Given the description of an element on the screen output the (x, y) to click on. 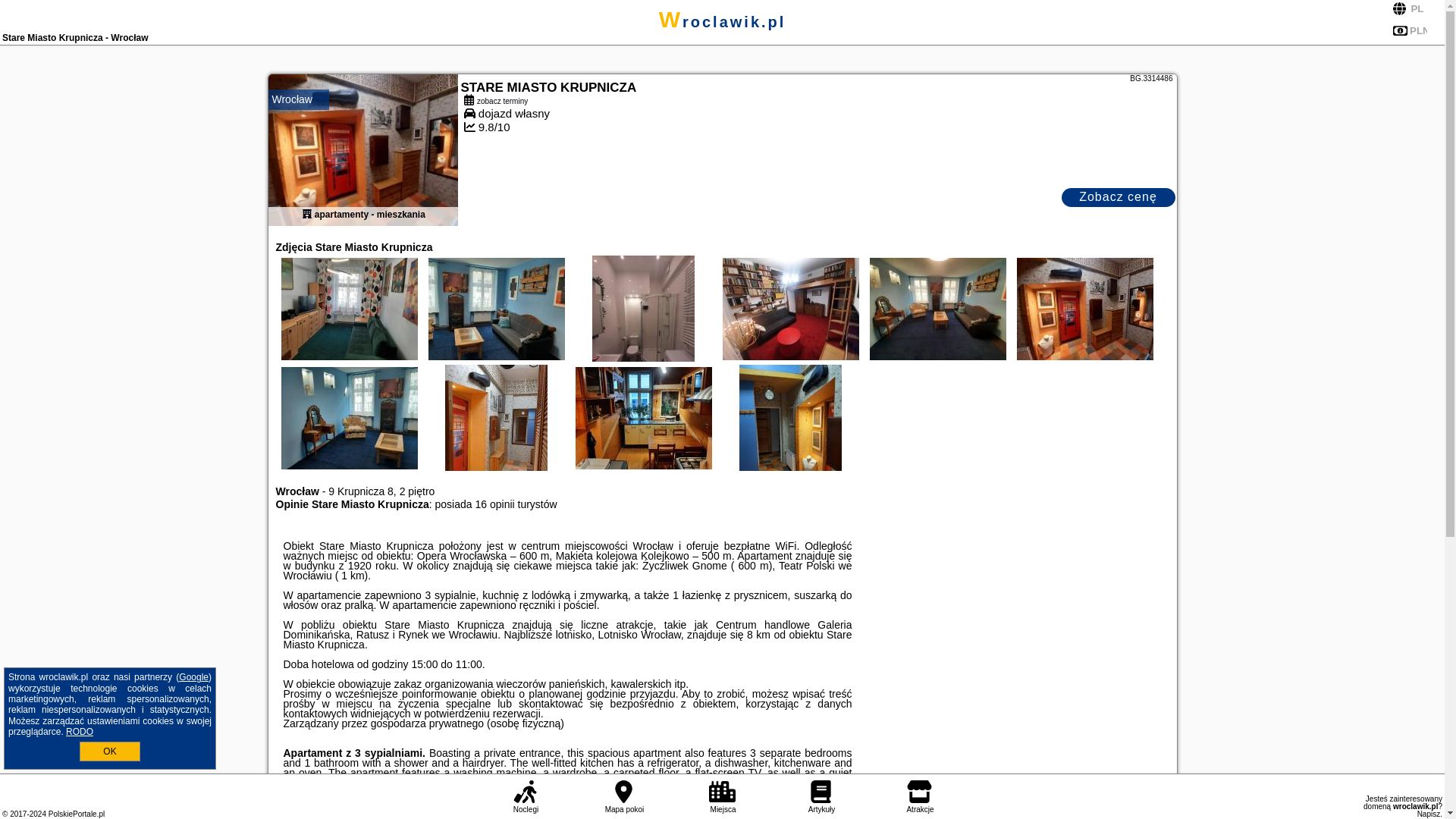
16 opinii (493, 503)
Urlop Wczasy Stare Miasto Krupnicza Polska (497, 308)
Urlop Wczasy Stare Miasto Krupnicza Polska (938, 308)
PolskiePortale.pl (76, 813)
Mapa pokoi (623, 797)
Urlop Wczasy Stare Miasto Krupnicza Polska (1085, 308)
Urlop Wczasy Stare Miasto Krupnicza Polska (644, 323)
Atrakcje (919, 797)
Noclegi (525, 797)
zobacz terminy (817, 100)
